Given the description of an element on the screen output the (x, y) to click on. 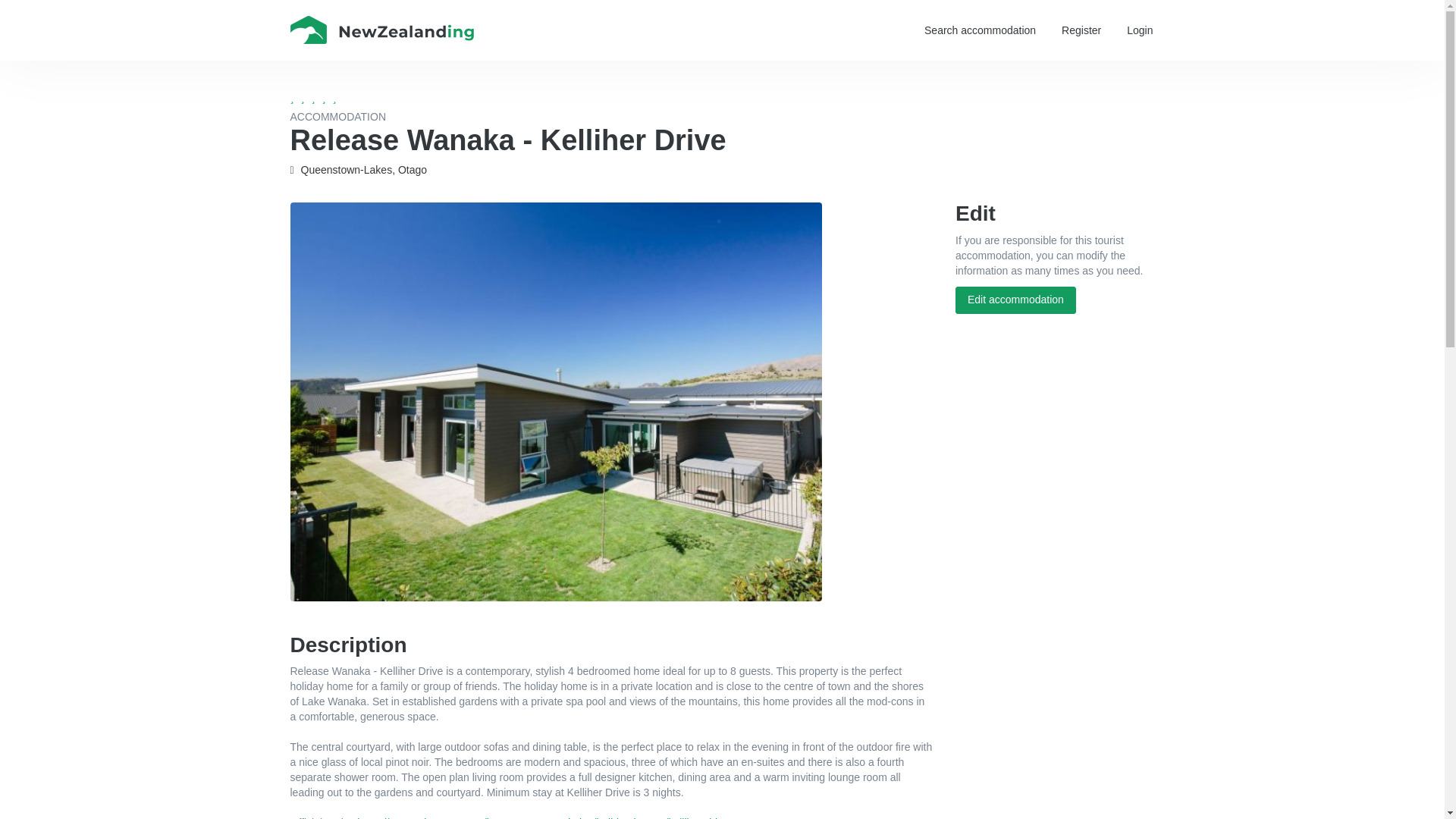
Register (1080, 30)
Search accommodation (979, 30)
Edit accommodation (1015, 299)
Login (1139, 30)
